Given the description of an element on the screen output the (x, y) to click on. 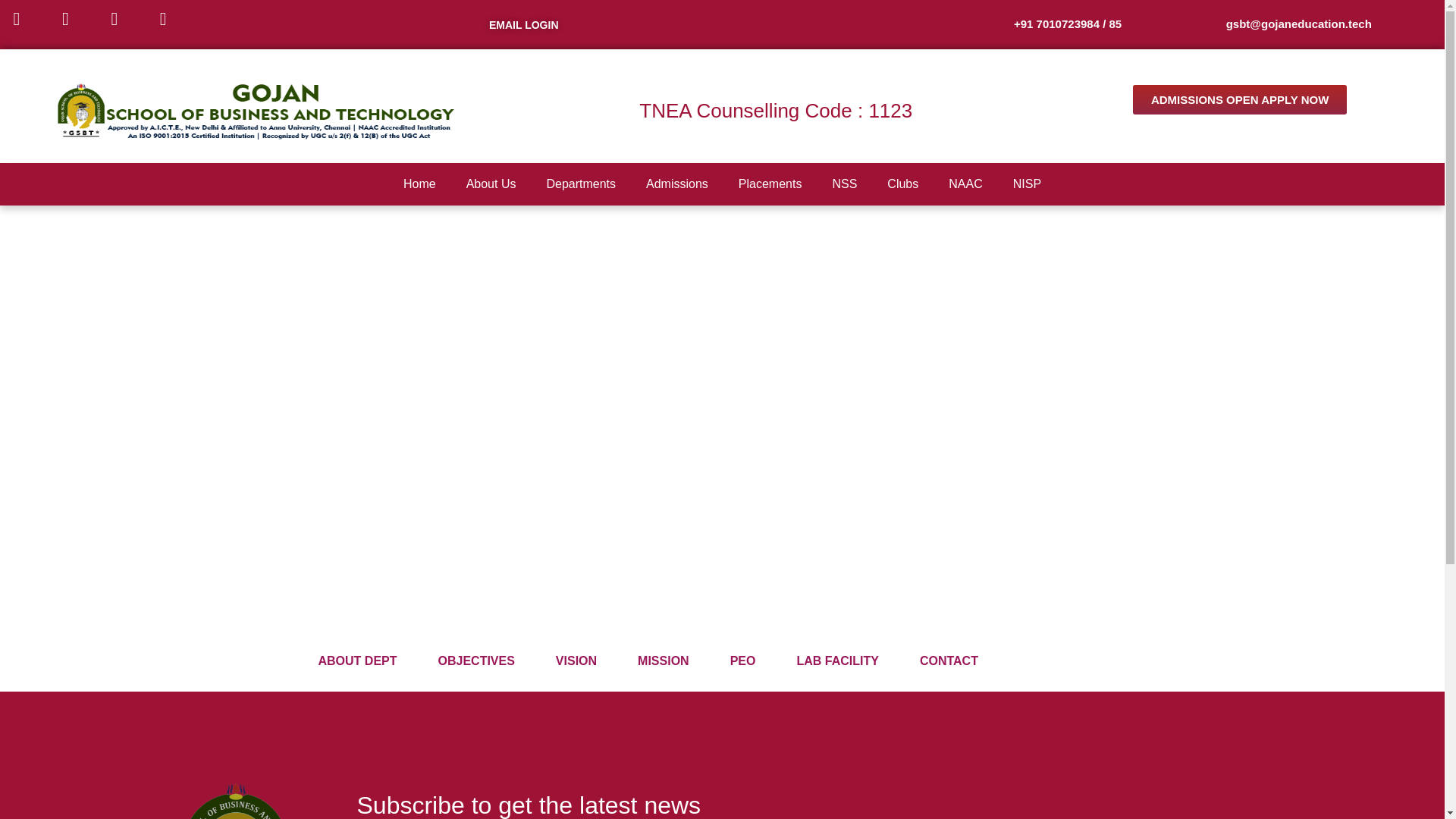
Admissions (676, 184)
About Us (490, 184)
Home (419, 184)
EMAIL LOGIN (524, 24)
NAAC (965, 184)
Departments (580, 184)
TNEA Counselling Code : 1123 (775, 110)
NISP (1027, 184)
Clubs (903, 184)
ADMISSIONS OPEN APPLY NOW (1240, 99)
Placements (770, 184)
NSS (843, 184)
